Given the description of an element on the screen output the (x, y) to click on. 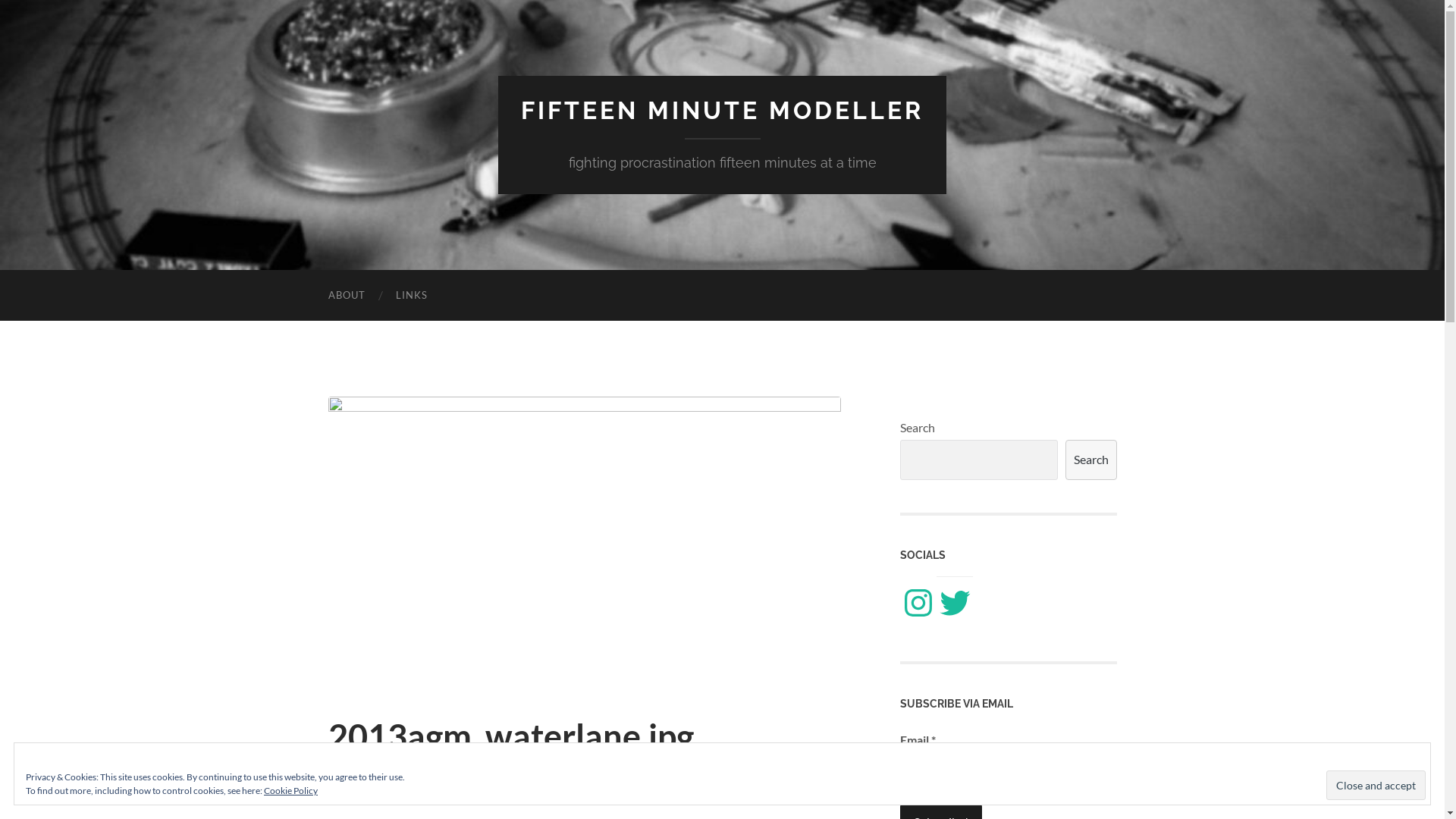
Close and accept Element type: text (1375, 785)
FIFTEEN MINUTE MODELLER Element type: text (721, 110)
Twitter Element type: text (953, 602)
LINKS Element type: text (411, 294)
Email Element type: hover (975, 769)
ABOUT Element type: text (345, 294)
Instagram Element type: text (917, 602)
Search Element type: text (1090, 459)
Cookie Policy Element type: text (290, 790)
